Given the description of an element on the screen output the (x, y) to click on. 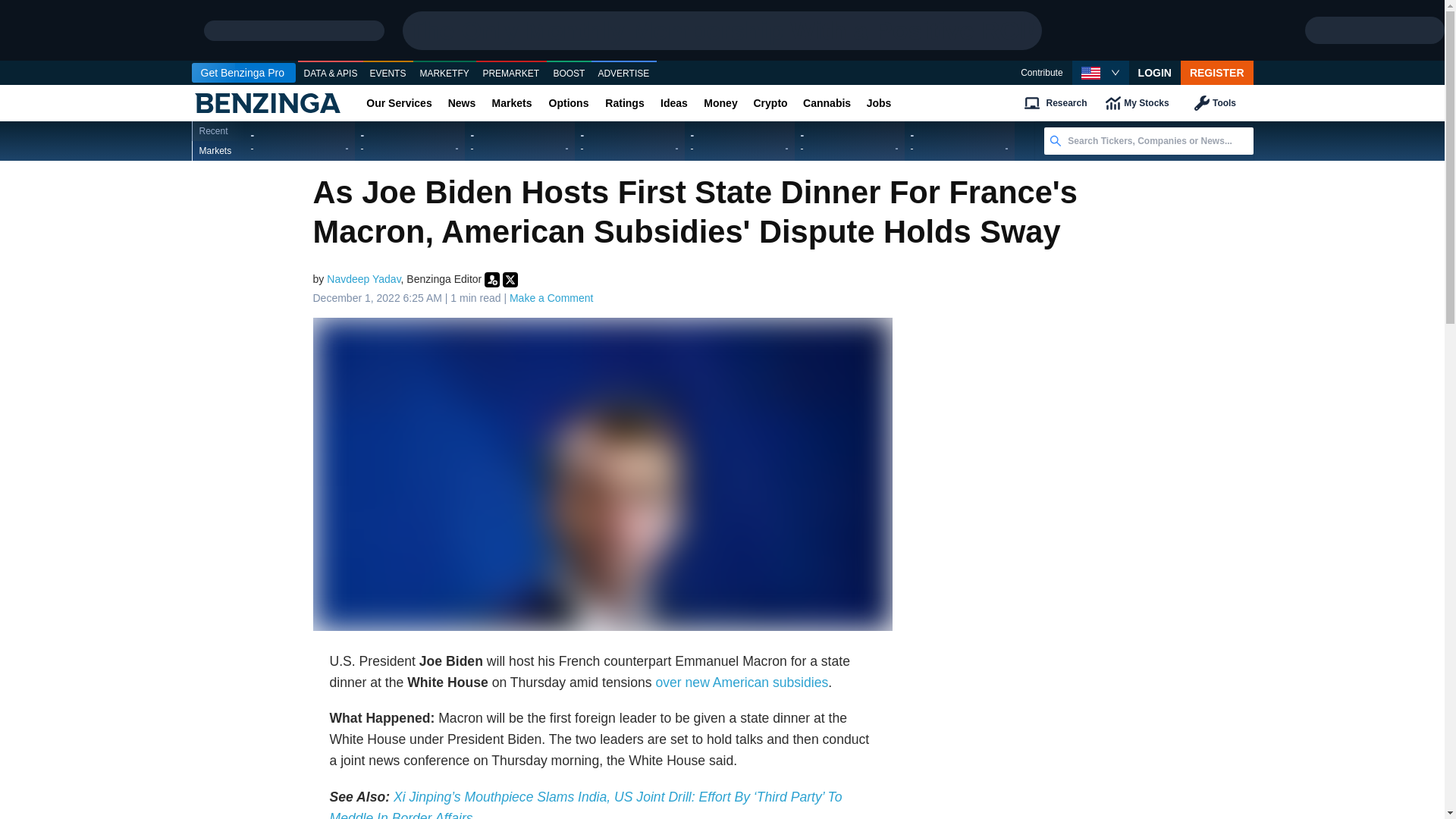
Our Services (398, 103)
ADVERTISE (623, 73)
USA (1090, 72)
Our Services (398, 103)
MARKETFY (444, 73)
EVENTS (387, 73)
PREMARKET (511, 73)
LOGIN (1154, 72)
BOOST (569, 73)
Get Benzinga Pro (242, 72)
